Given the description of an element on the screen output the (x, y) to click on. 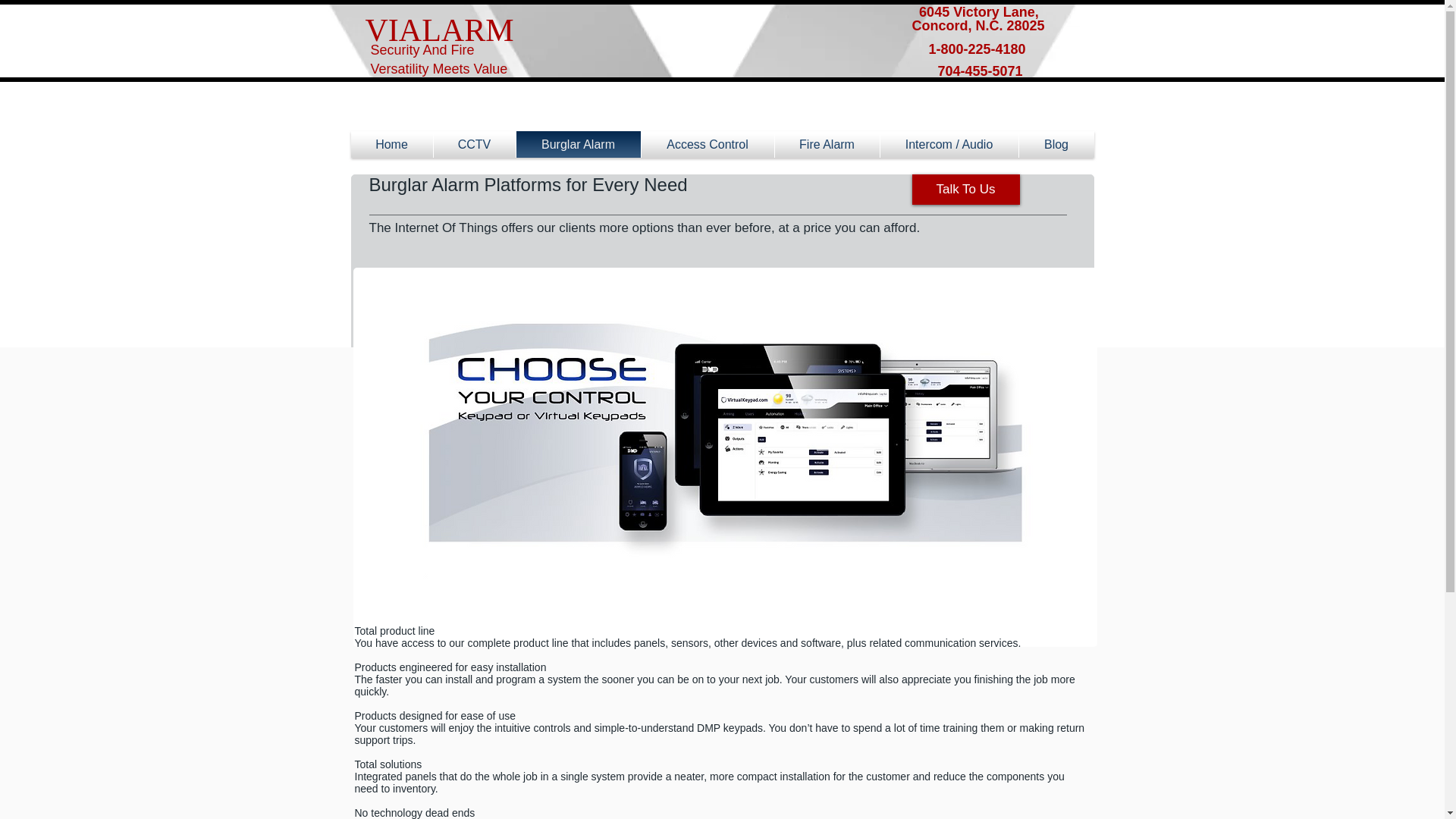
Access Control (708, 144)
Blog (1056, 144)
Talk To Us (965, 189)
CCTV (474, 144)
Home (391, 144)
Burglar Alarm (577, 144)
Fire Alarm (826, 144)
